Given the description of an element on the screen output the (x, y) to click on. 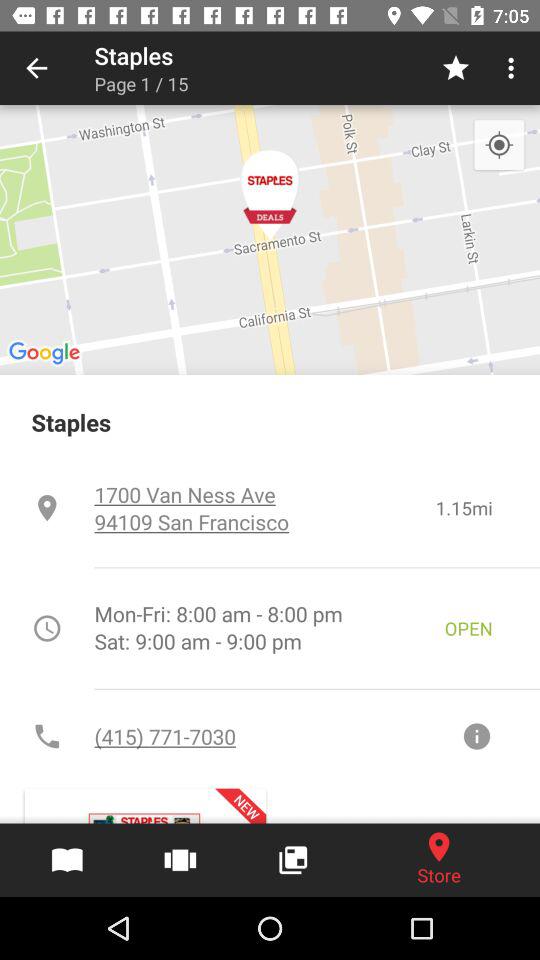
select the icon next to the page 1 / 15 icon (455, 67)
